Given the description of an element on the screen output the (x, y) to click on. 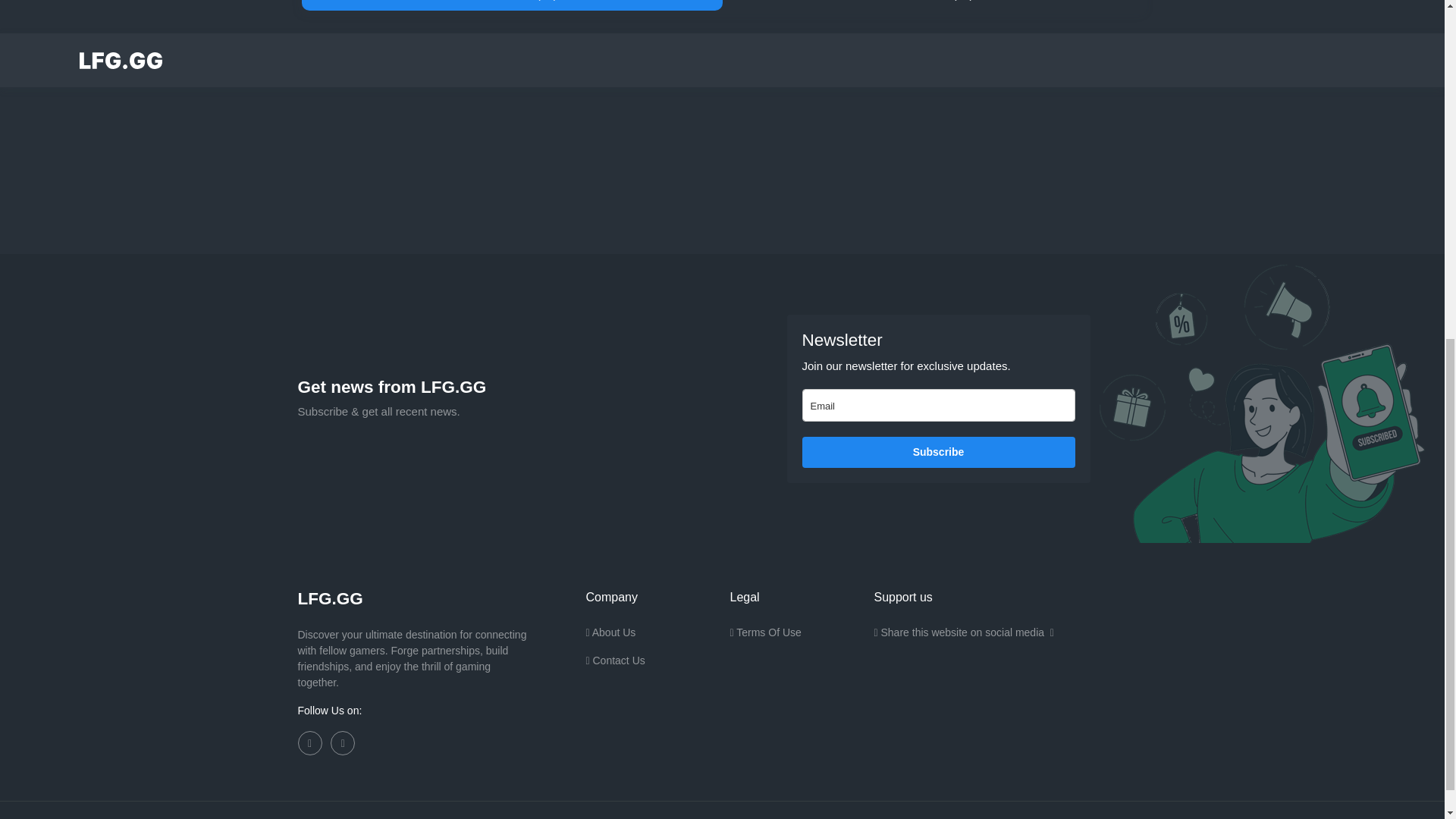
Share this website on social media   (962, 638)
Terms Of Use (764, 638)
Subscribe (938, 451)
About Us (609, 638)
Contact Us (615, 666)
